Given the description of an element on the screen output the (x, y) to click on. 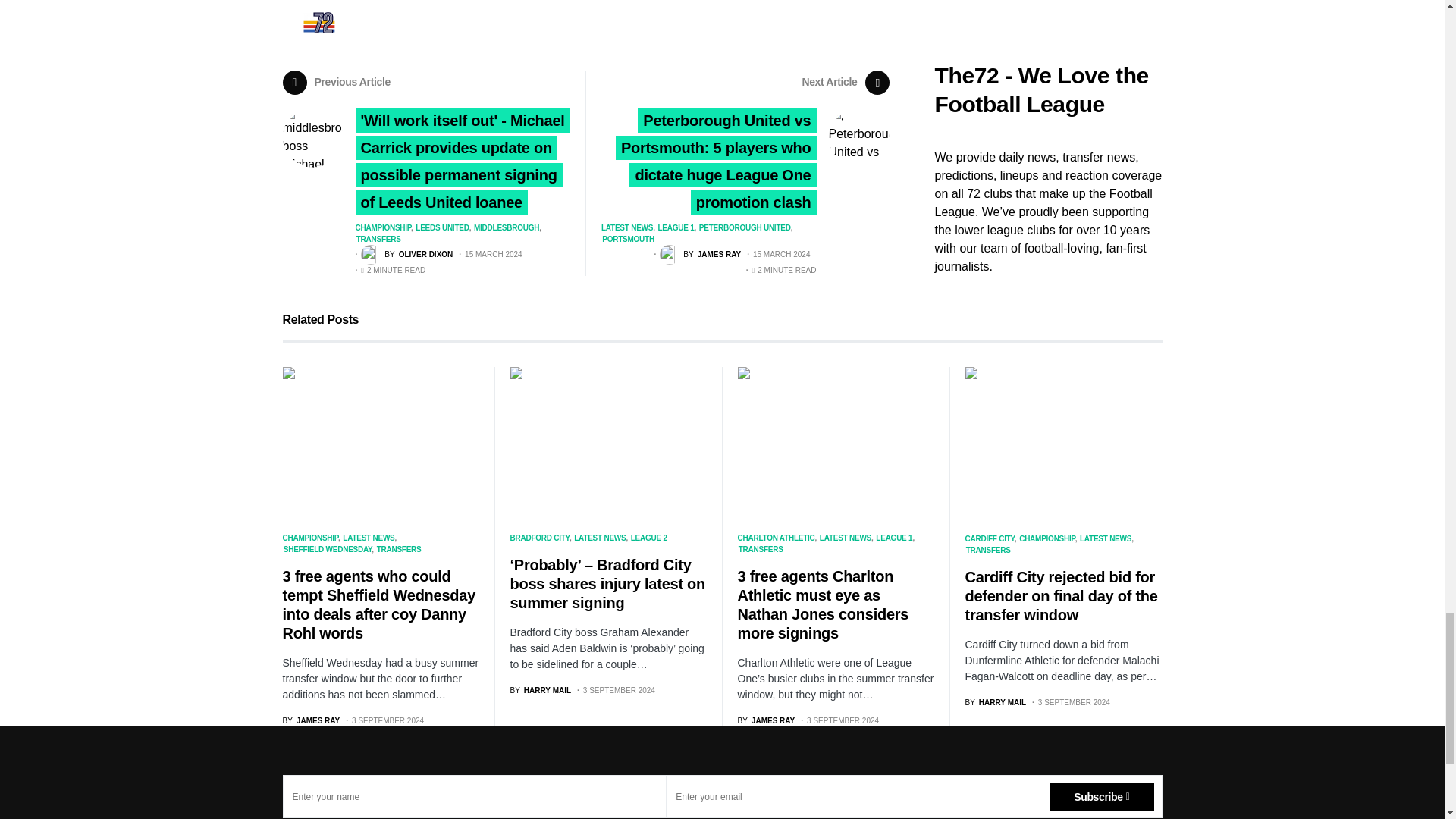
View all posts by Oliver Dixon (406, 254)
View all posts by Harry Mail (994, 702)
View all posts by Harry Mail (539, 690)
View all posts by James Ray (310, 720)
View all posts by James Ray (700, 254)
View all posts by James Ray (765, 720)
